Given the description of an element on the screen output the (x, y) to click on. 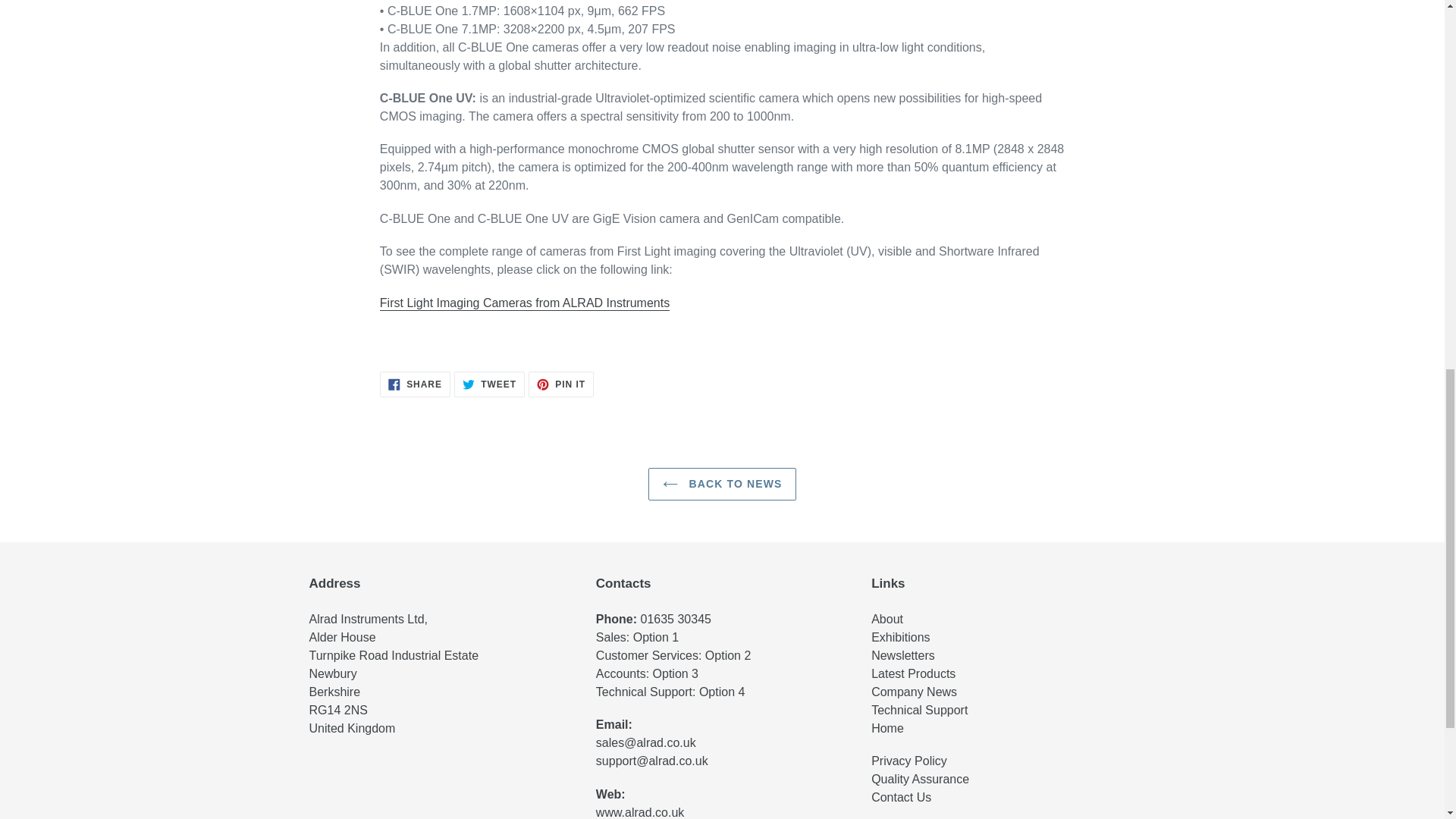
Privacy Policy (908, 760)
Support (919, 709)
About (887, 618)
Contact (900, 797)
Quality Assurance (919, 779)
Exhibitions (900, 636)
Newsletters (902, 655)
